Given the description of an element on the screen output the (x, y) to click on. 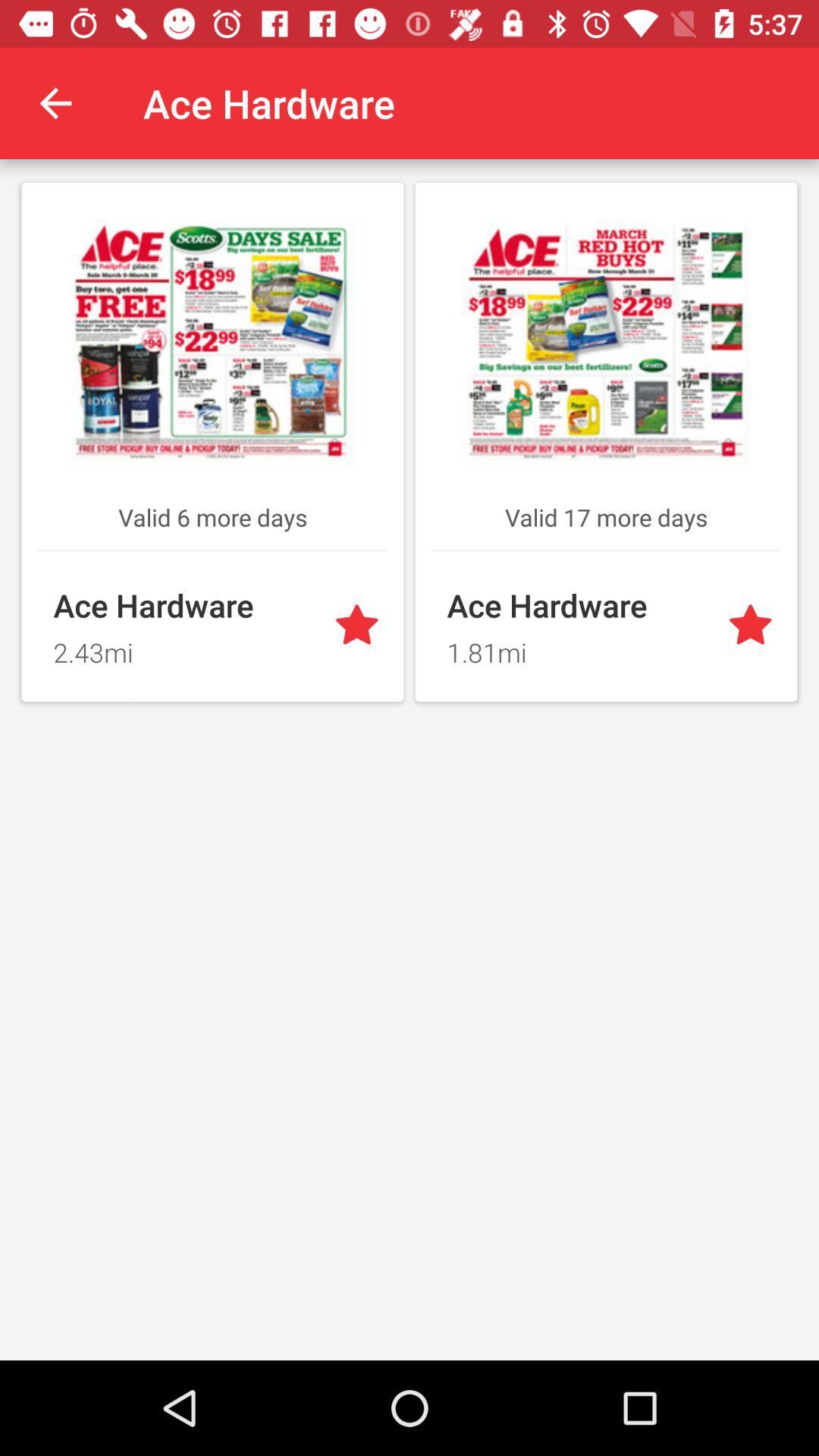
choose 1.81mi (578, 647)
